Given the description of an element on the screen output the (x, y) to click on. 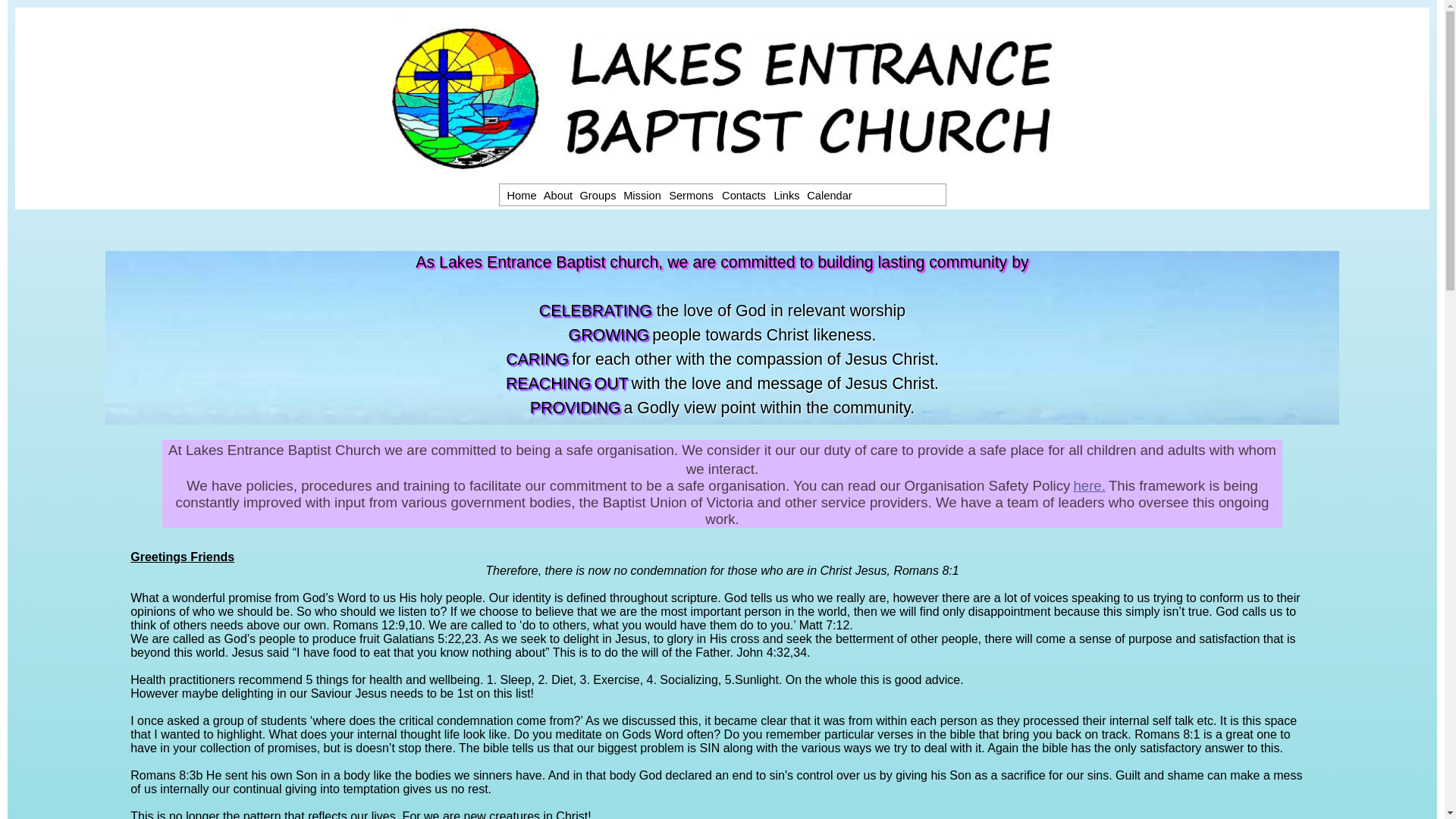
here. Element type: text (1089, 485)
